Given the description of an element on the screen output the (x, y) to click on. 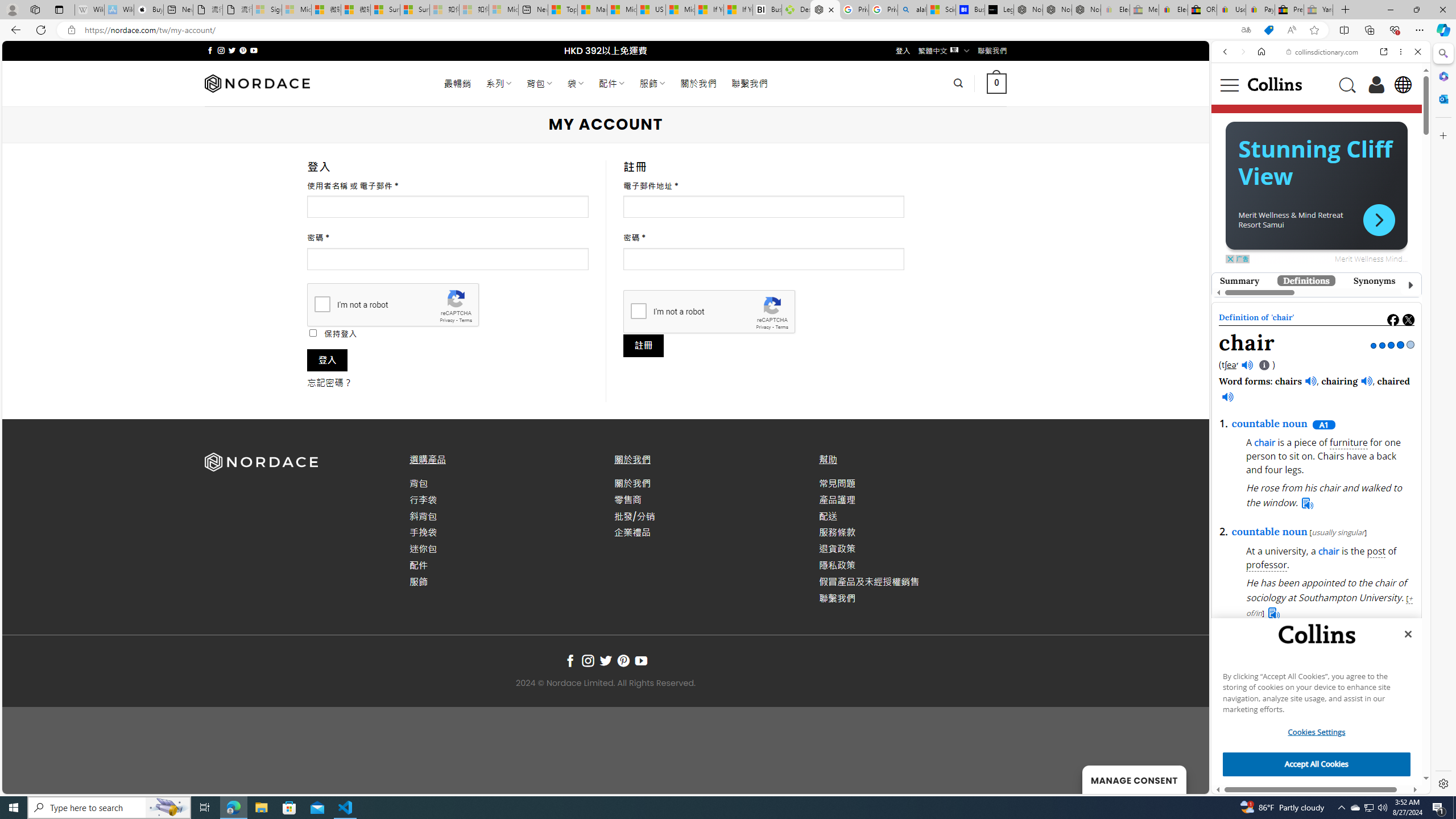
Follow on Pinterest (622, 660)
Marine life - MSN (591, 9)
[+ of/in] (1329, 605)
Class: ns-14utm-e-3 image p9FadeIn (1312, 306)
IPA Pronunciation Guide (1264, 365)
